Given the description of an element on the screen output the (x, y) to click on. 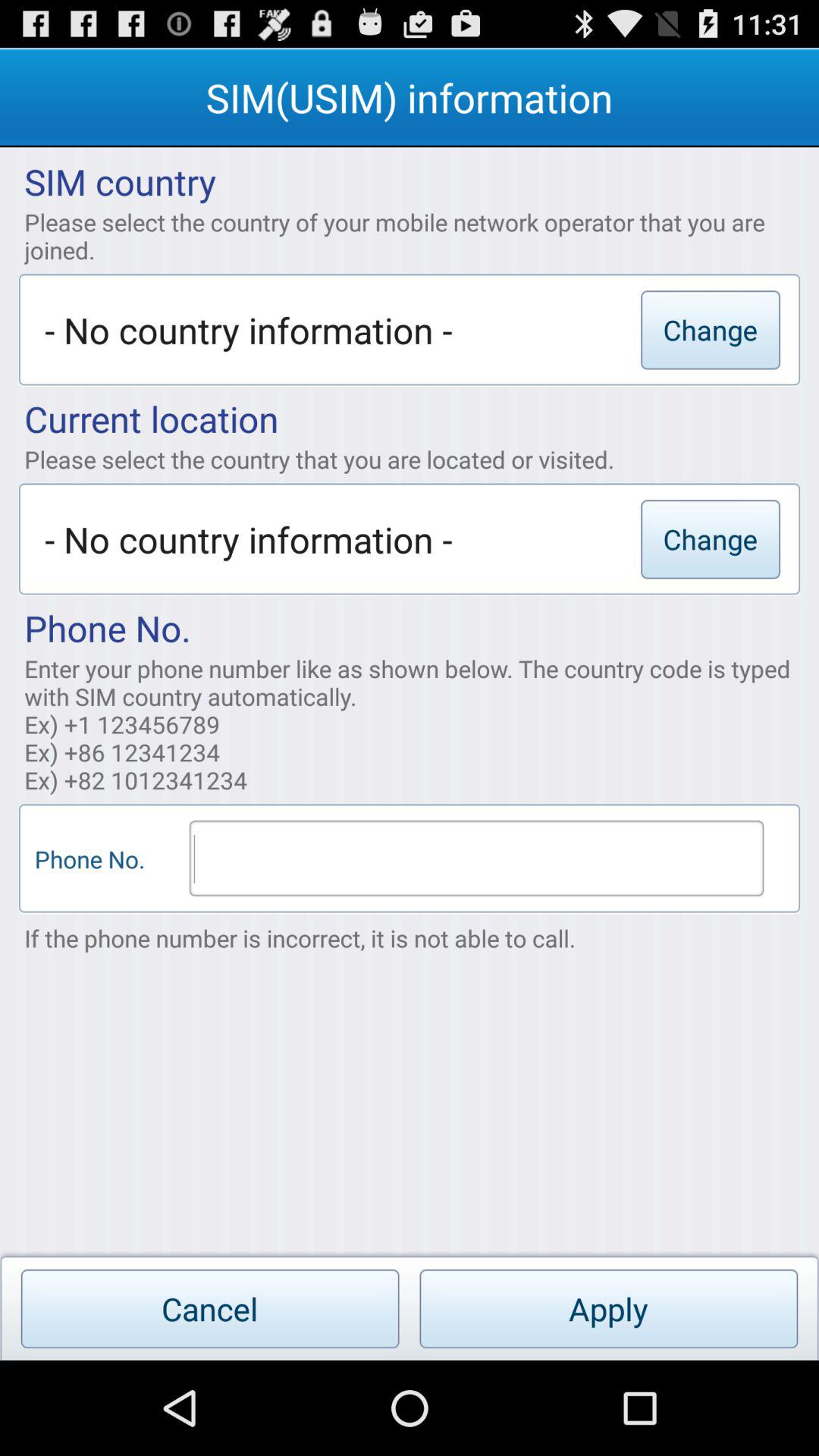
click the item next to the apply button (210, 1309)
